Given the description of an element on the screen output the (x, y) to click on. 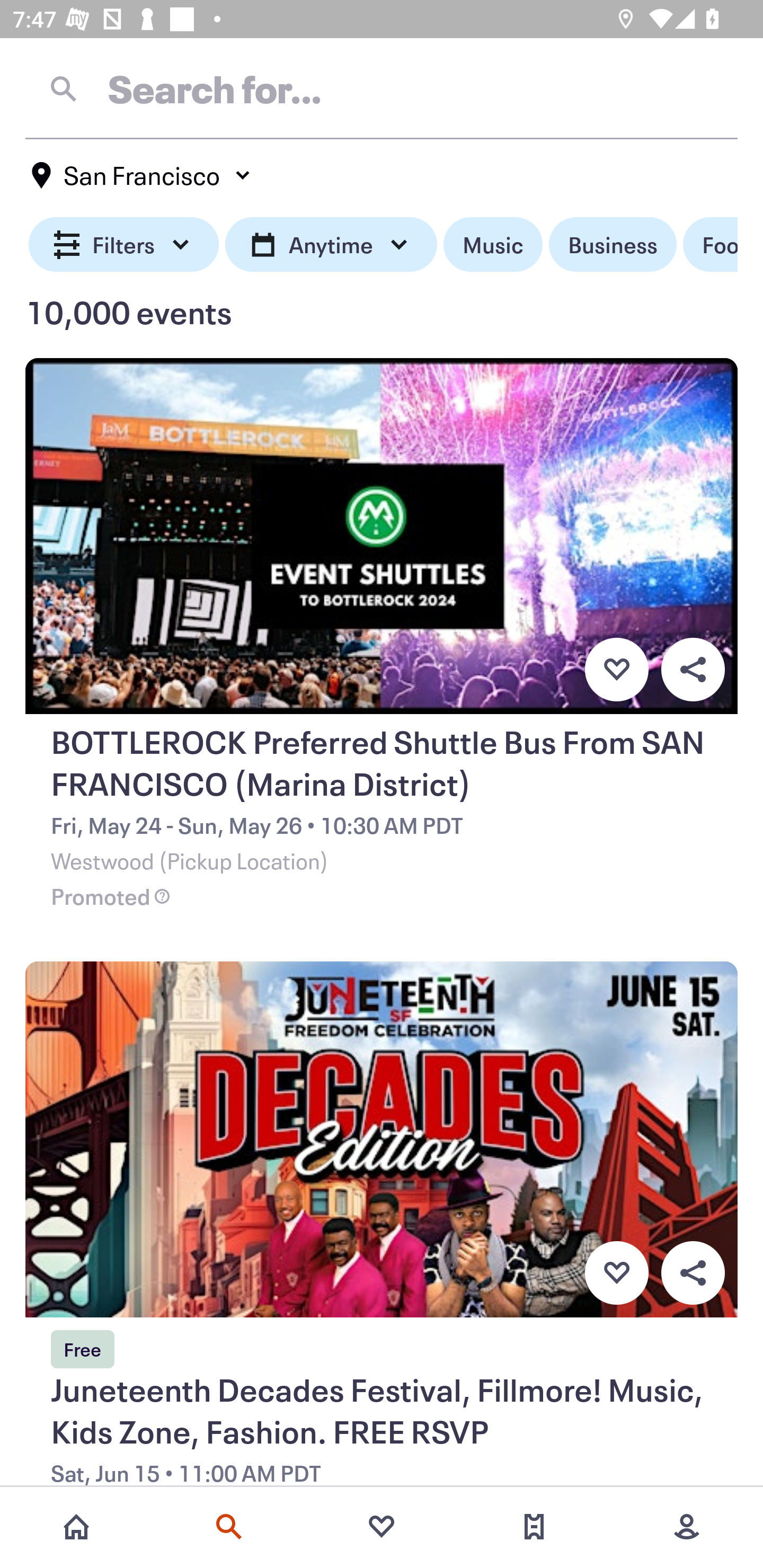
Search for… (381, 88)
San Francisco (141, 175)
Filters (123, 244)
Anytime (331, 244)
Music (492, 244)
Business (612, 244)
Favorite button (616, 669)
Overflow menu button (692, 669)
Favorite button (616, 1272)
Overflow menu button (692, 1272)
Home (76, 1526)
Search events (228, 1526)
Favorites (381, 1526)
Tickets (533, 1526)
More (686, 1526)
